Given the description of an element on the screen output the (x, y) to click on. 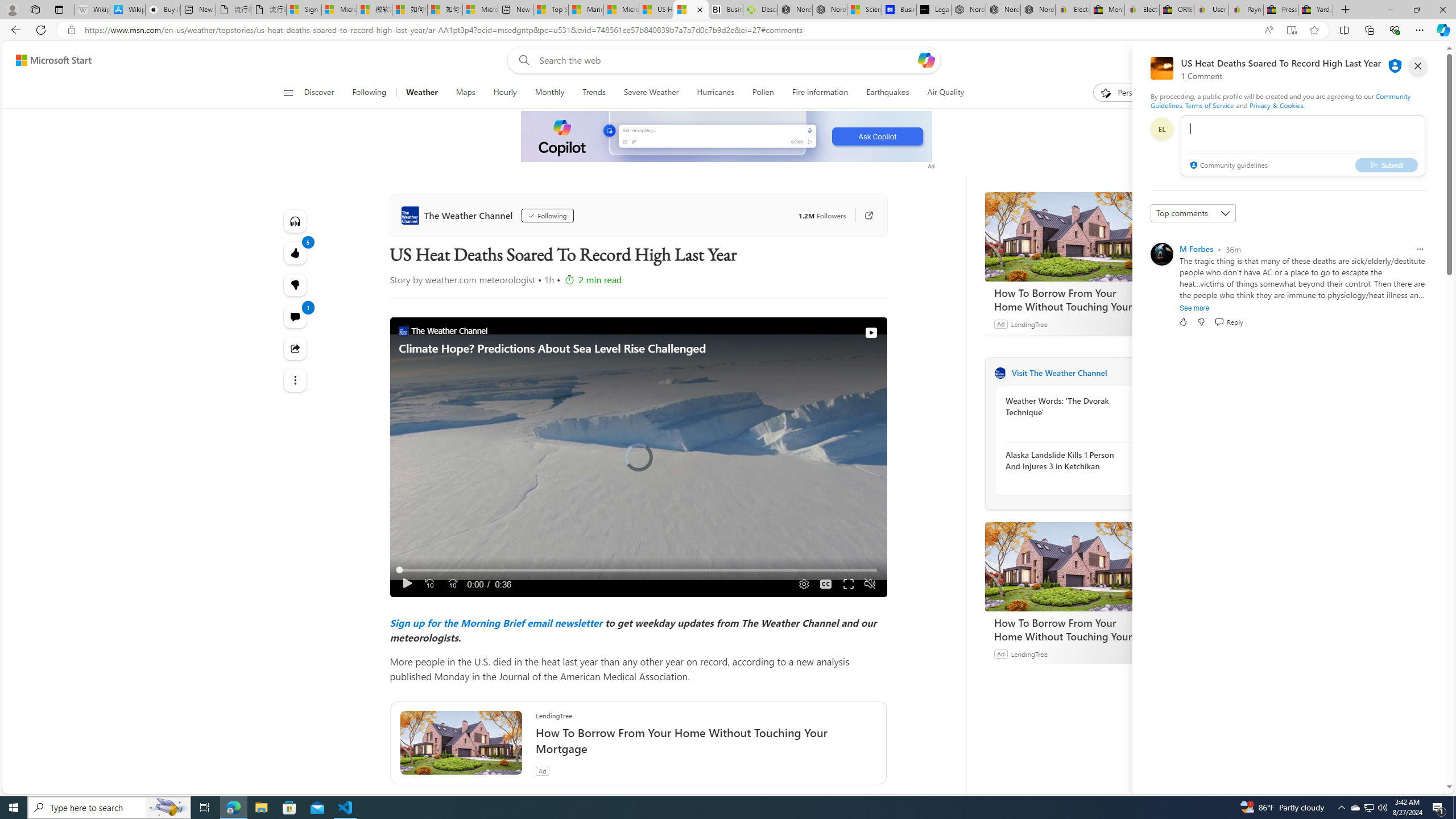
Personal Profile (12, 9)
Discover (323, 92)
Ad (999, 653)
Listen to this article (295, 220)
User Privacy Notice | eBay (1211, 9)
Restore (1416, 9)
Quality Settings (801, 583)
Reply Reply Comment (1228, 321)
Air Quality (945, 92)
M Forbes (1196, 248)
Seek Forward (452, 583)
Class: at-item (295, 380)
Open settings (1420, 60)
Back (13, 29)
